Given the description of an element on the screen output the (x, y) to click on. 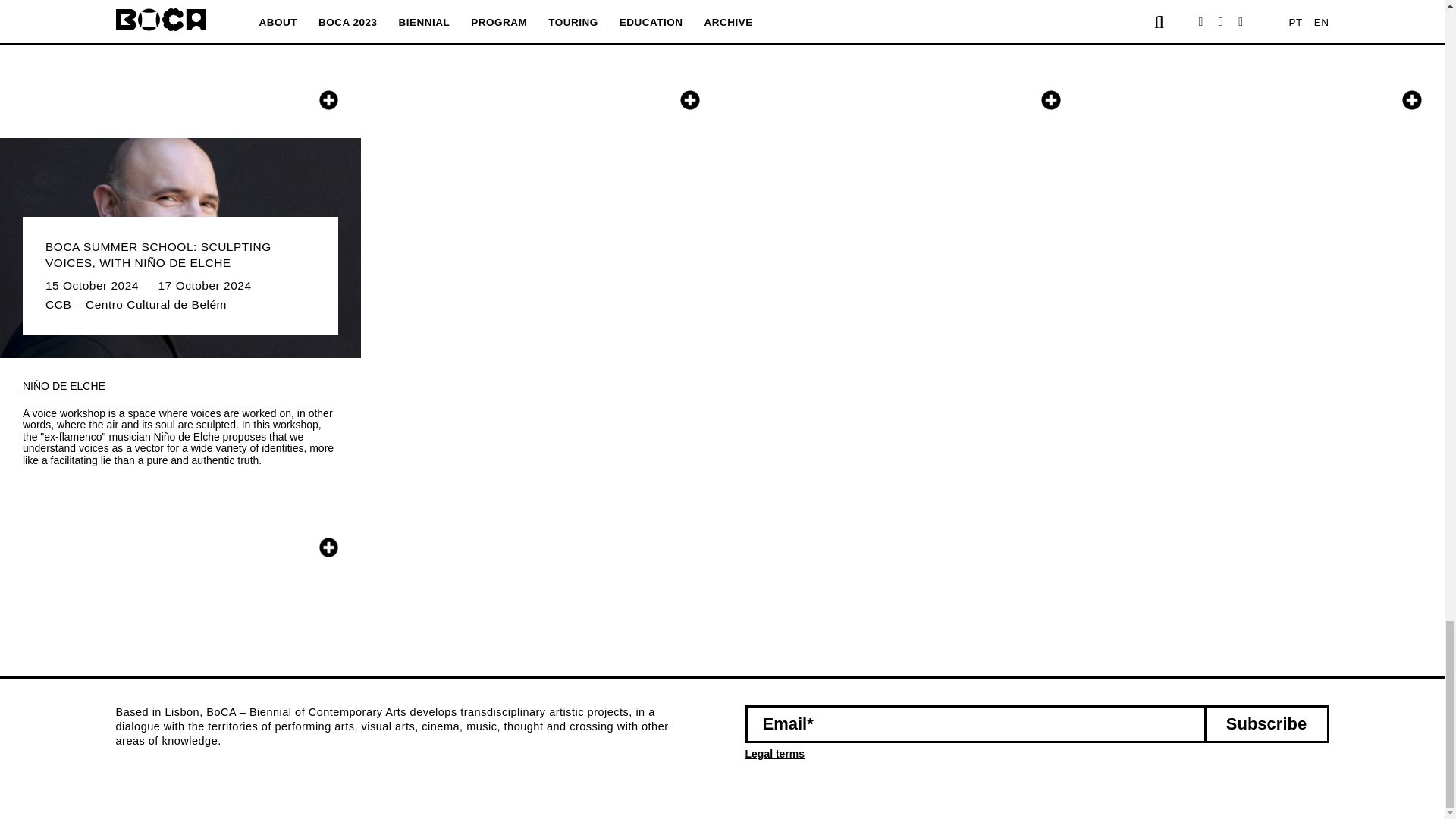
Subscribe (1266, 723)
